Given the description of an element on the screen output the (x, y) to click on. 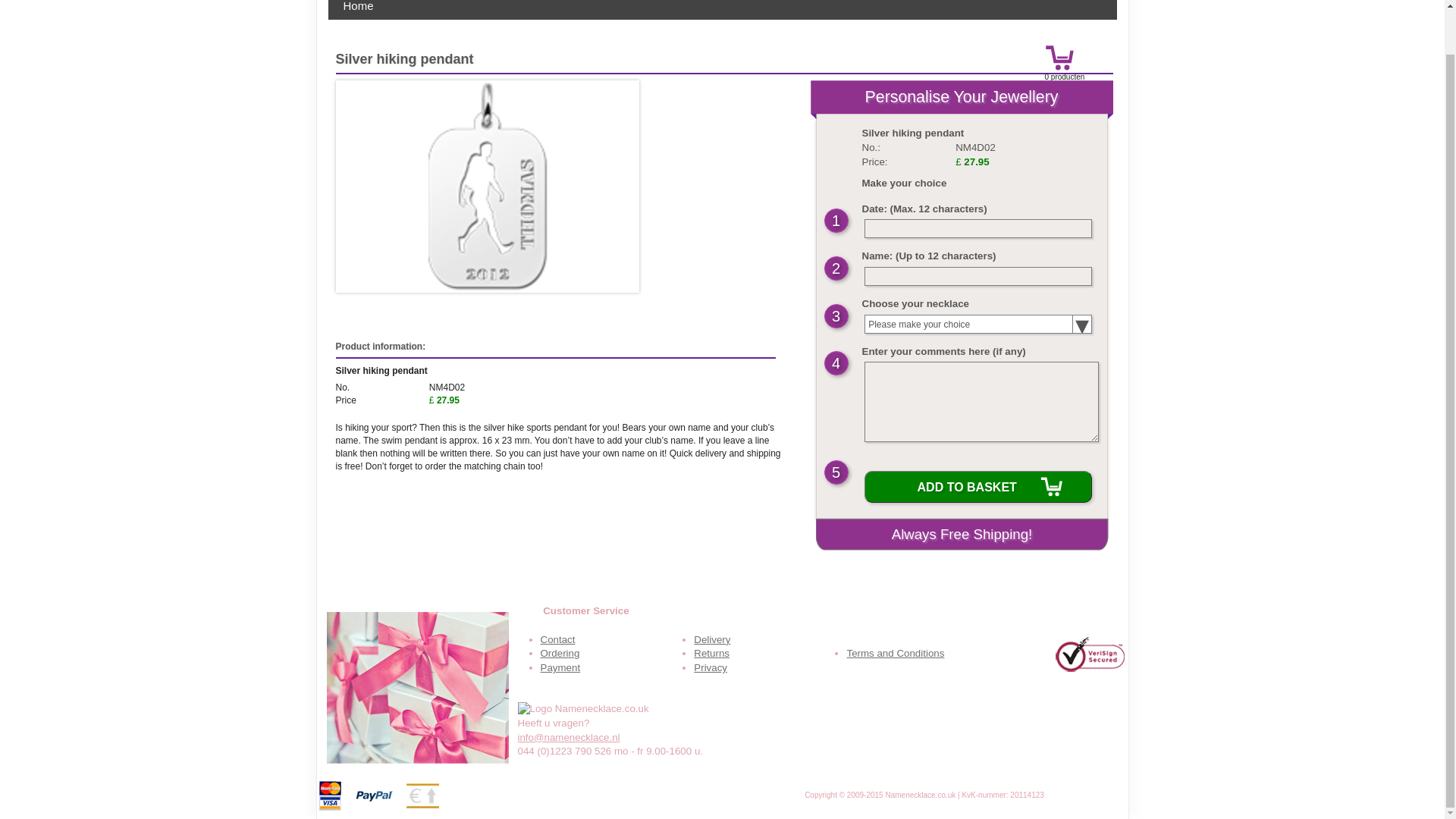
Returns (711, 653)
Ordering (559, 653)
Privacy (710, 667)
Home (357, 9)
Silver hiking pendant (486, 186)
Delivery (712, 639)
Contact (557, 639)
Payment (559, 667)
